Given the description of an element on the screen output the (x, y) to click on. 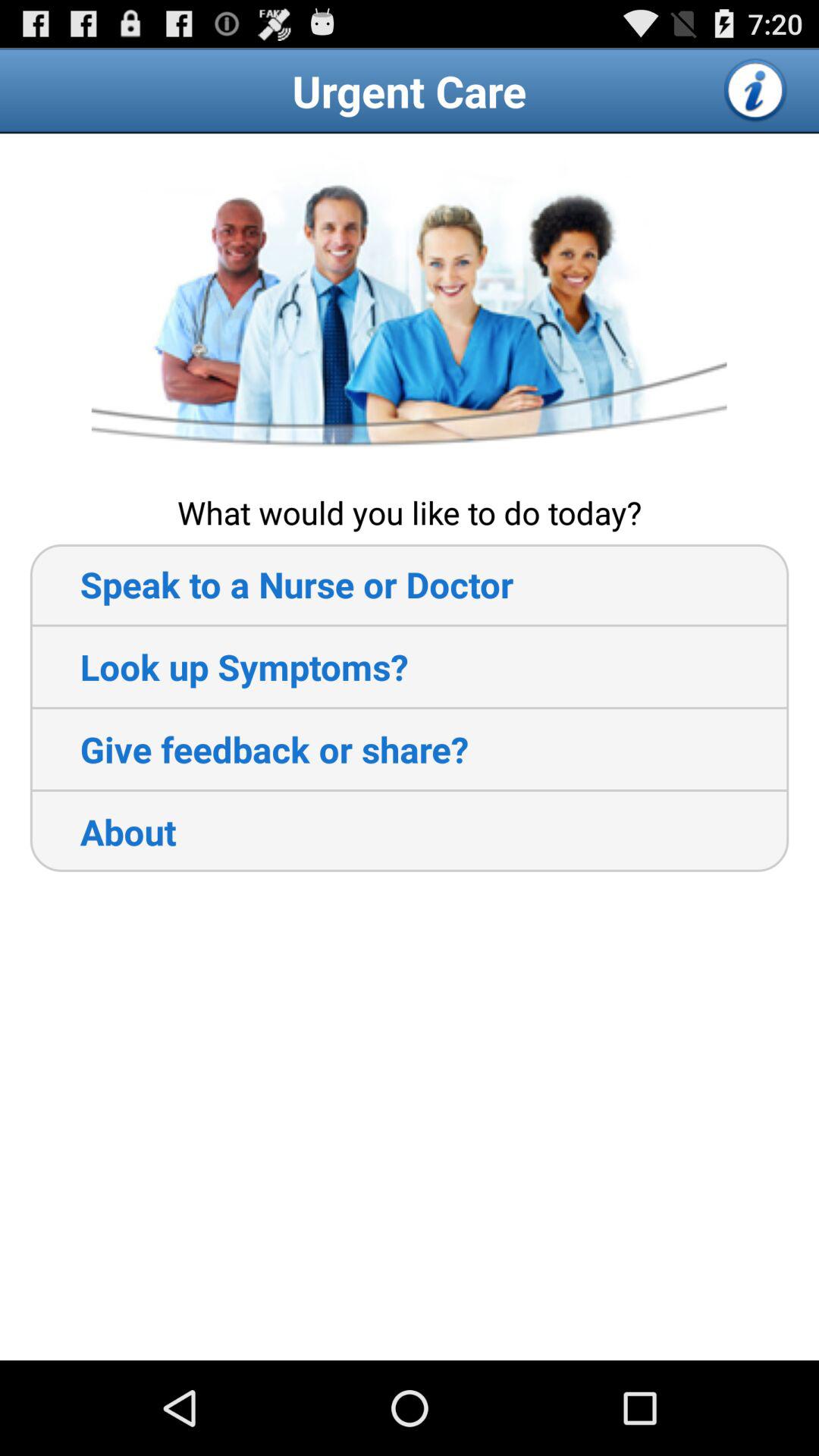
tap the item above the give feedback or (219, 666)
